Given the description of an element on the screen output the (x, y) to click on. 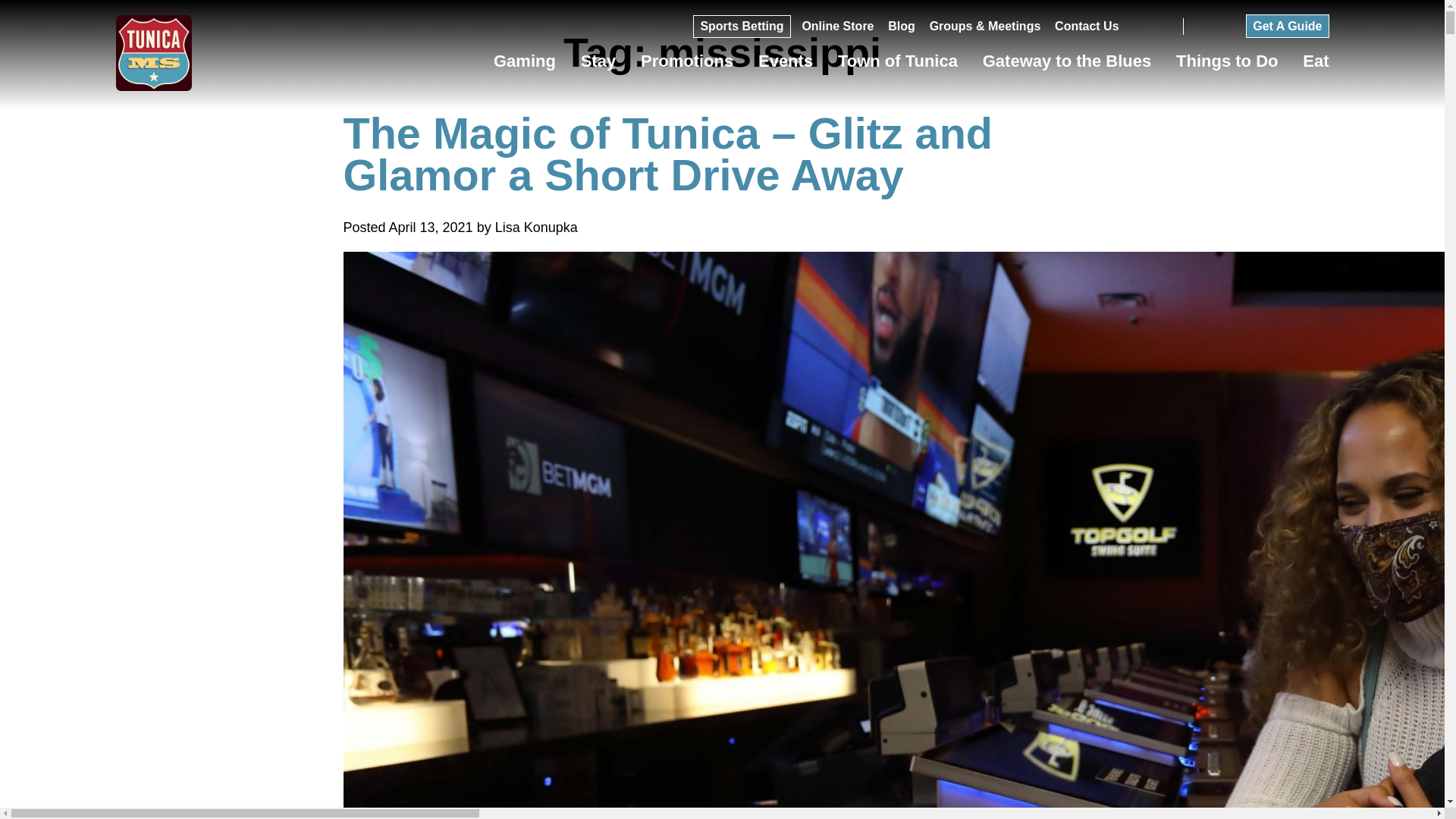
Promotions (686, 64)
Blog (901, 29)
Sports Betting (741, 29)
Gaming (524, 64)
Contact Us (1086, 29)
Events (785, 64)
Online Store (837, 29)
Stay (597, 64)
Get A Guide (1286, 25)
